Given the description of an element on the screen output the (x, y) to click on. 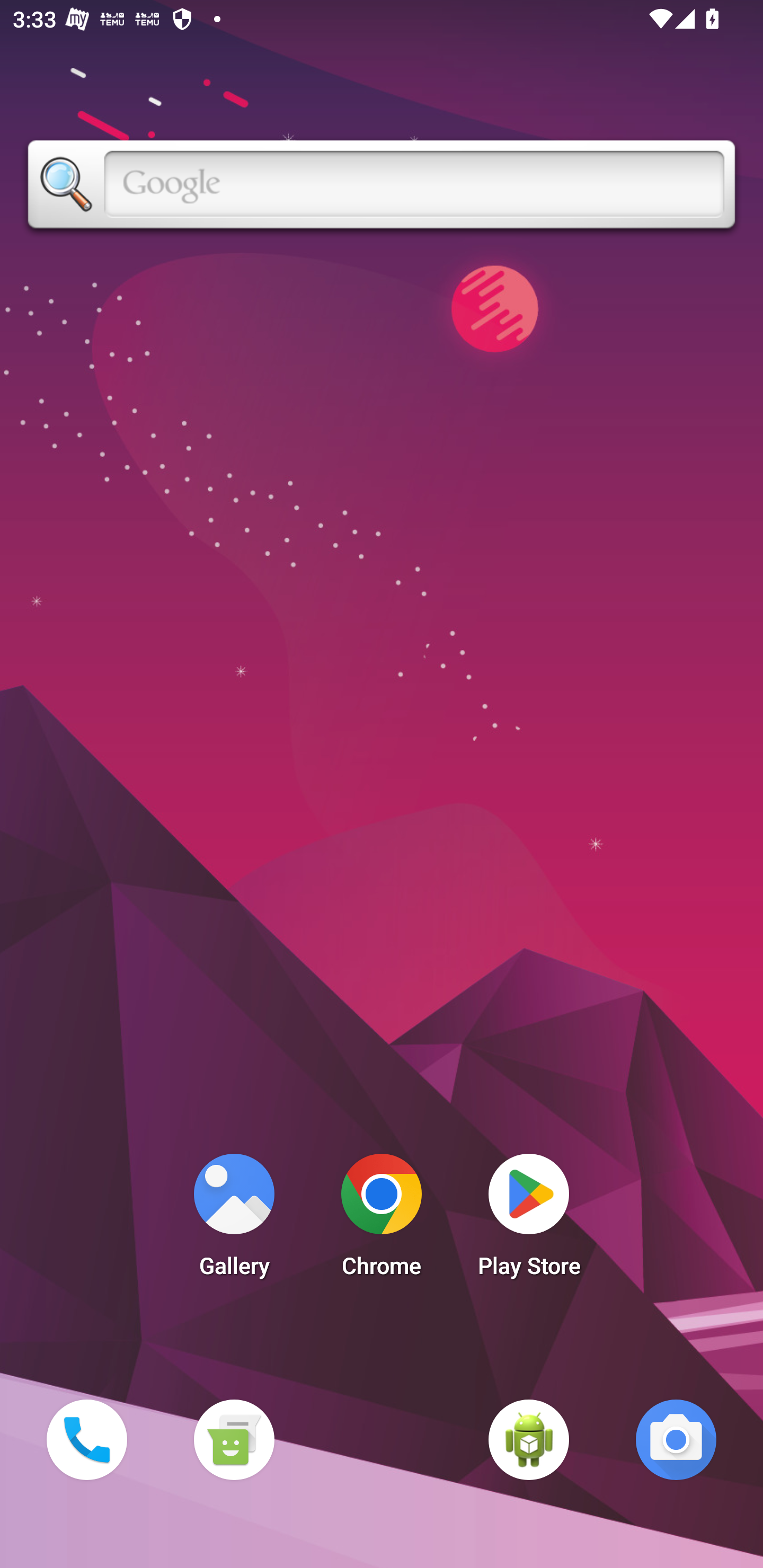
Gallery (233, 1220)
Chrome (381, 1220)
Play Store (528, 1220)
Phone (86, 1439)
Messaging (233, 1439)
WebView Browser Tester (528, 1439)
Camera (676, 1439)
